Given the description of an element on the screen output the (x, y) to click on. 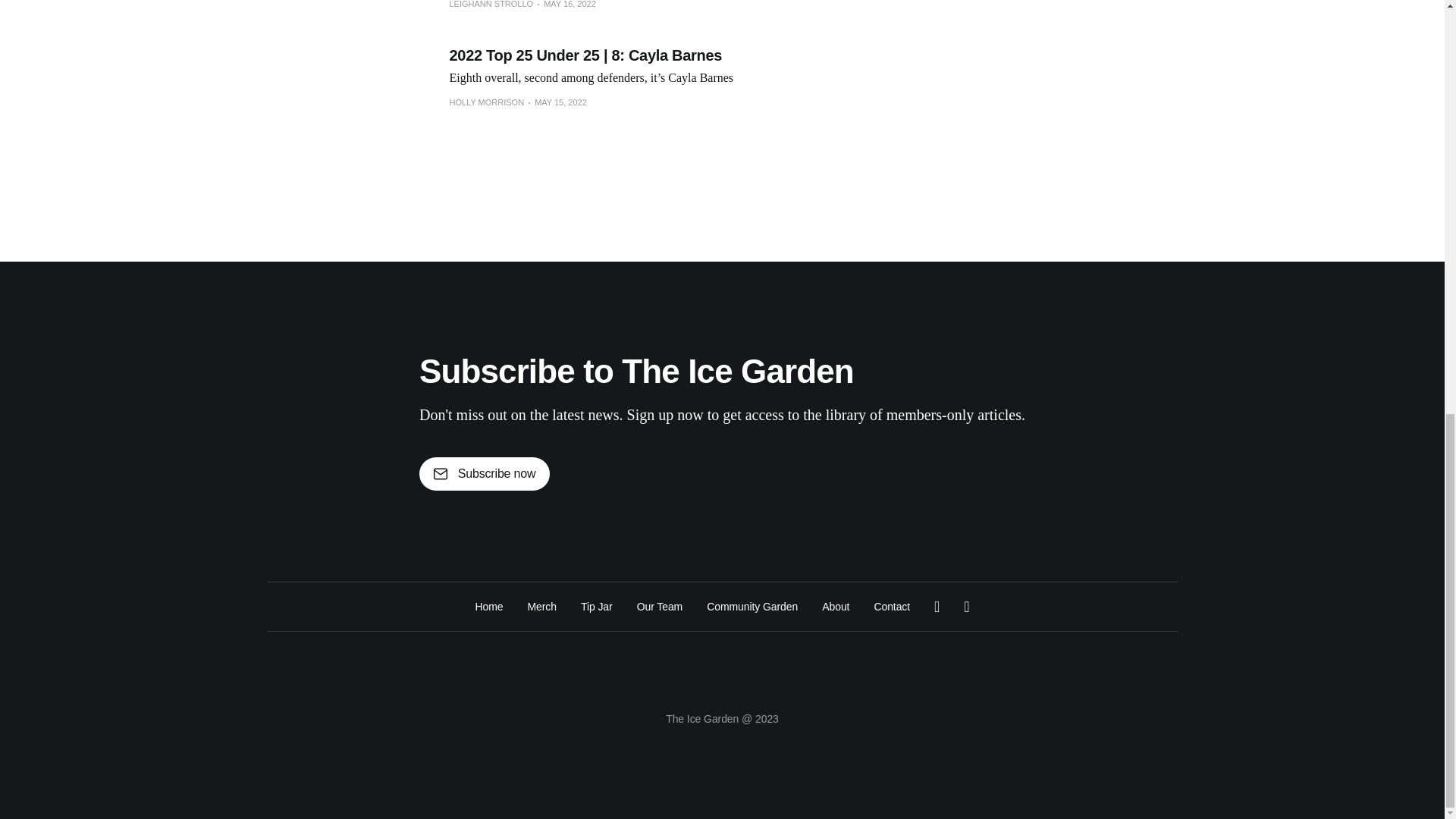
Our Team (659, 606)
Tip Jar (596, 606)
Community Garden (751, 606)
Contact (891, 606)
Merch (541, 606)
Home (488, 606)
About (835, 606)
Subscribe now (484, 473)
